Given the description of an element on the screen output the (x, y) to click on. 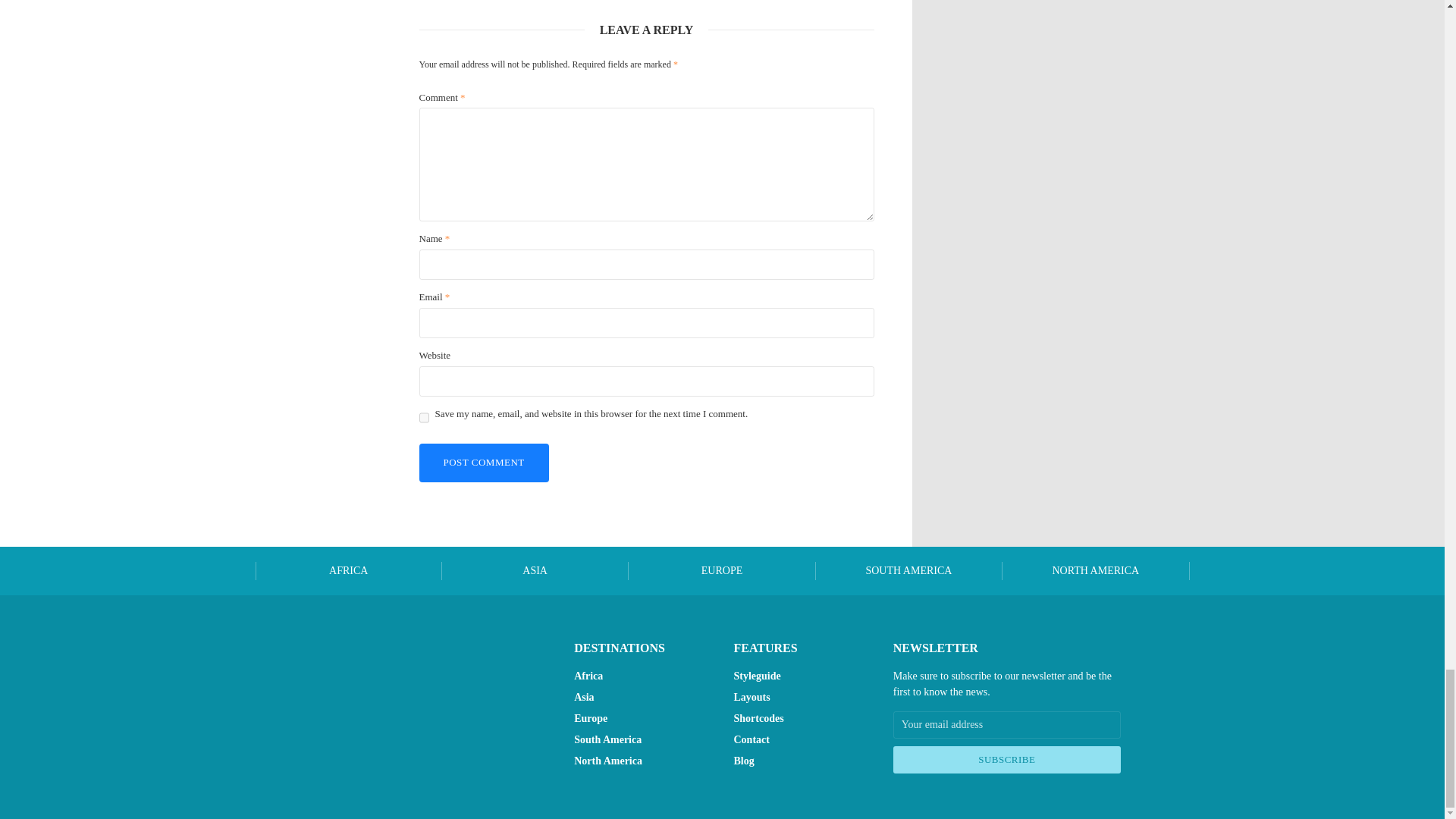
Subscribe (1007, 759)
Post Comment (483, 462)
Post Comment (483, 462)
